Given the description of an element on the screen output the (x, y) to click on. 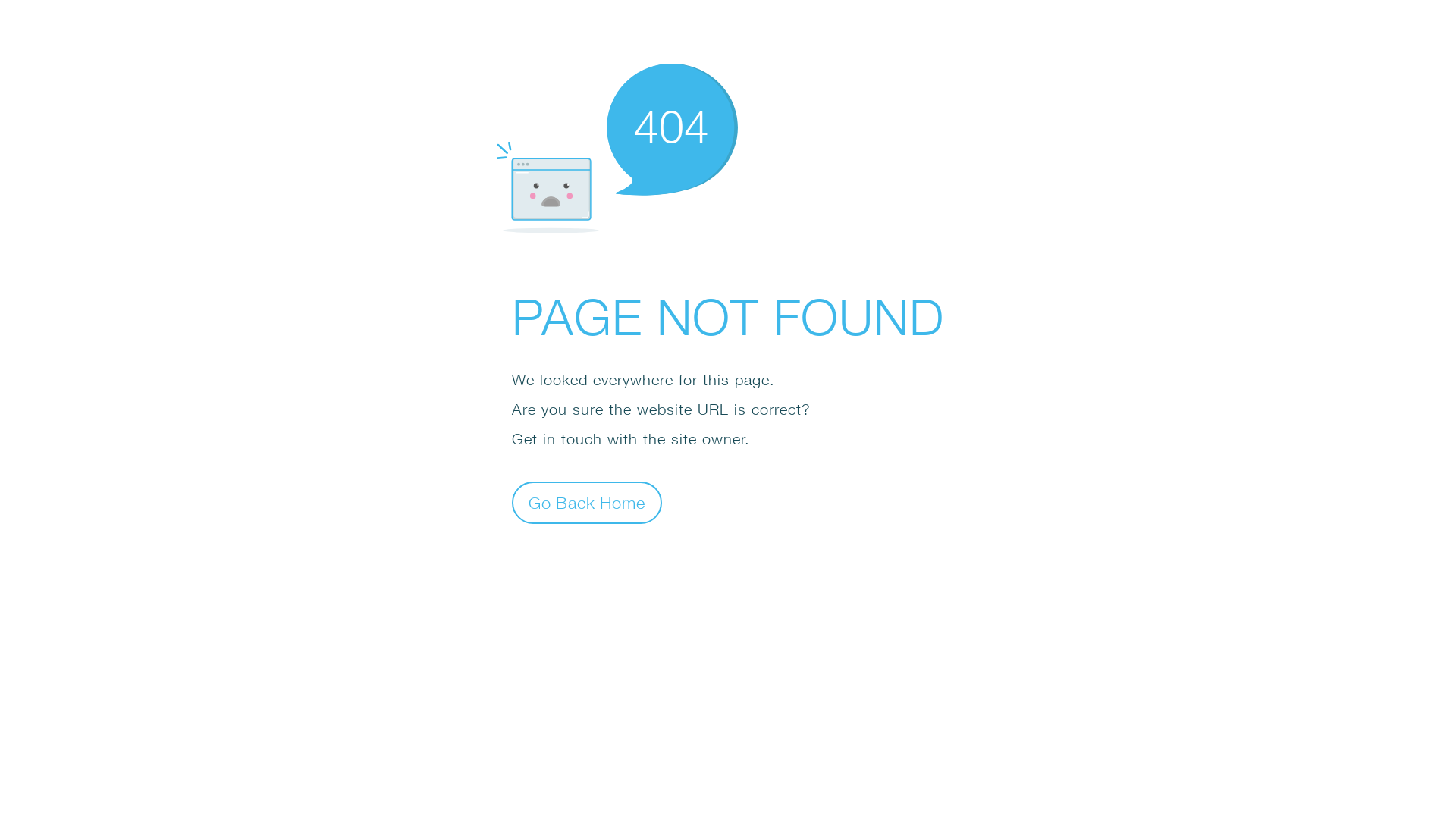
Go Back Home Element type: text (586, 502)
